Given the description of an element on the screen output the (x, y) to click on. 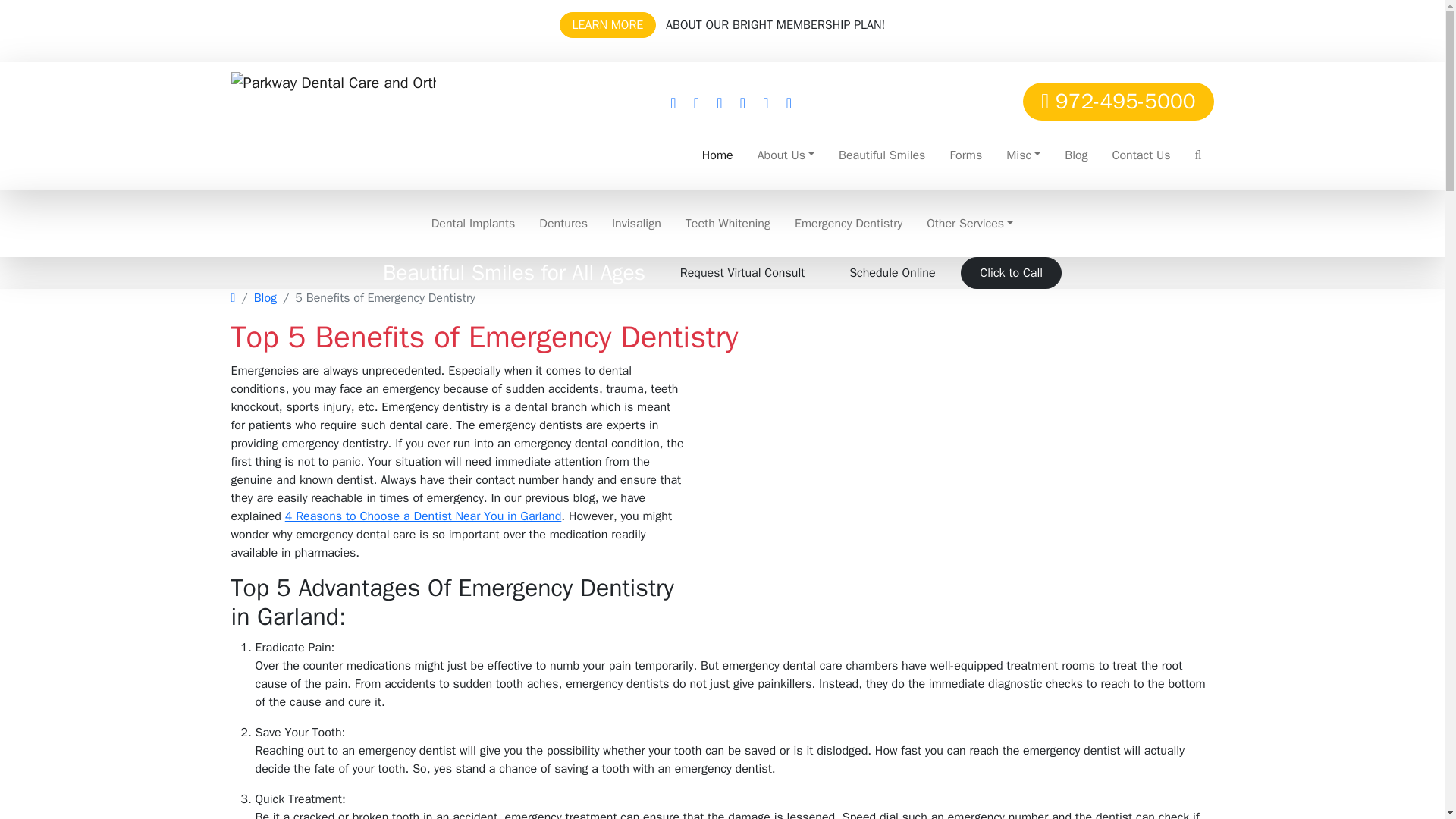
Parkway Dental Care and Orthodontics (332, 126)
Misc (1023, 154)
Home (717, 154)
972-495-5000 (1117, 100)
Forms (965, 154)
About Us (786, 154)
Call at 972-495-5000 (1117, 100)
Contact Us (1141, 154)
LEARN MORE (607, 24)
Parkway Dental Care and Orthodontics Logo (332, 125)
Schedule Online (915, 100)
Schedule Online (915, 100)
Blog (1075, 154)
Beautiful Smiles (882, 154)
